Given the description of an element on the screen output the (x, y) to click on. 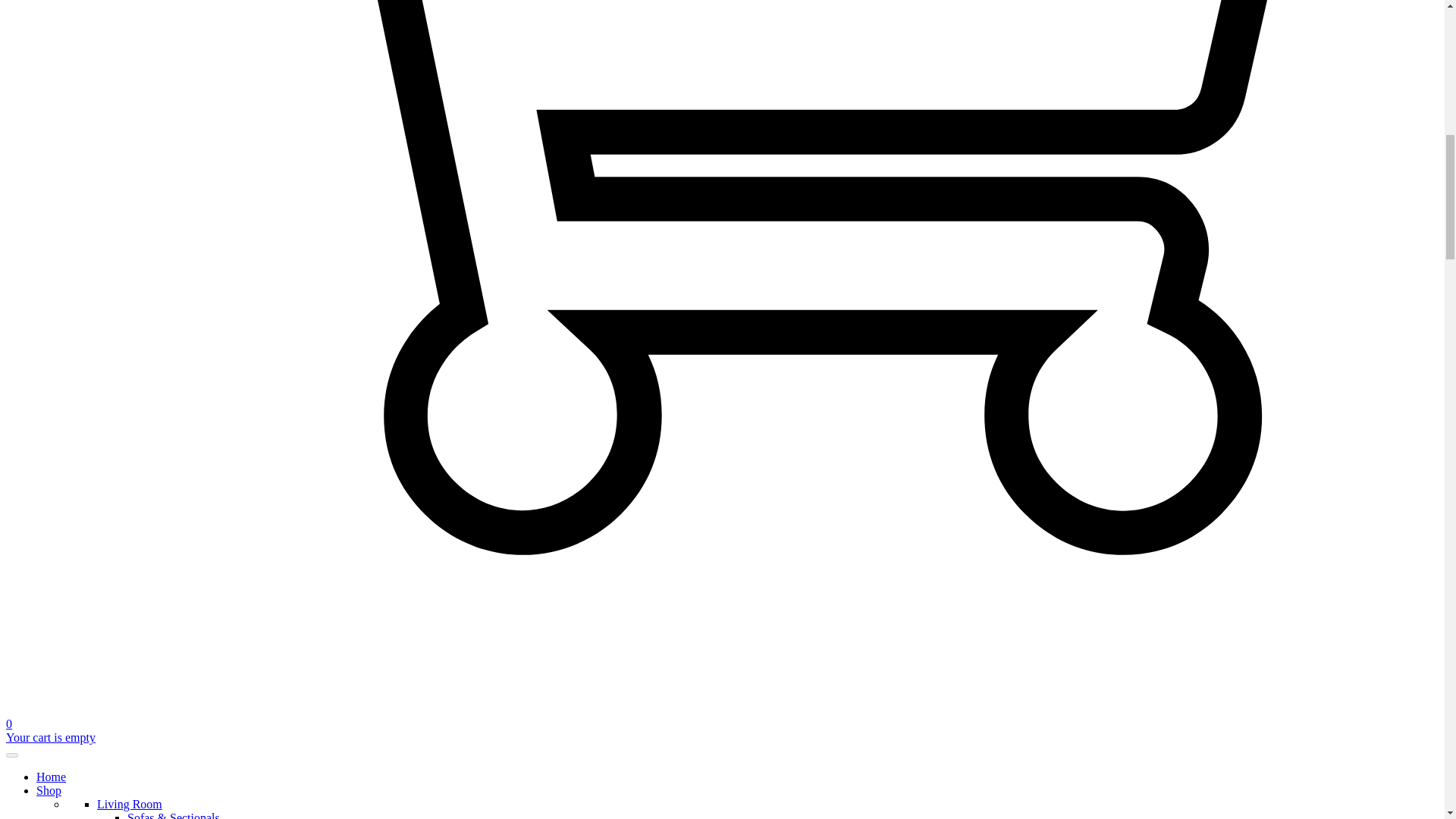
Living Room (129, 803)
Shop (48, 789)
Your cart is empty (50, 737)
Home (50, 776)
